Given the description of an element on the screen output the (x, y) to click on. 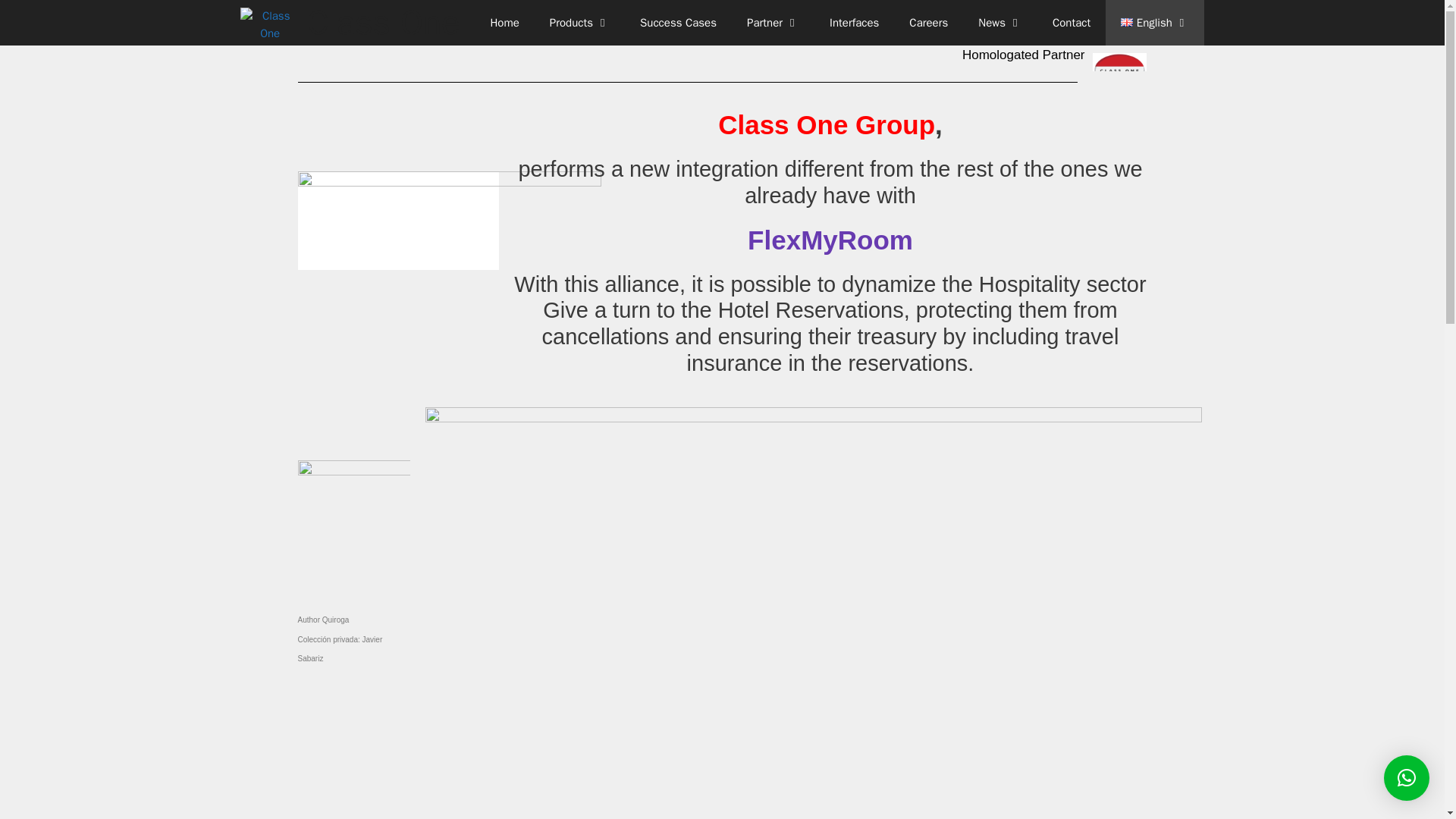
Class One (273, 22)
Class One (383, 22)
Class One (269, 22)
